Given the description of an element on the screen output the (x, y) to click on. 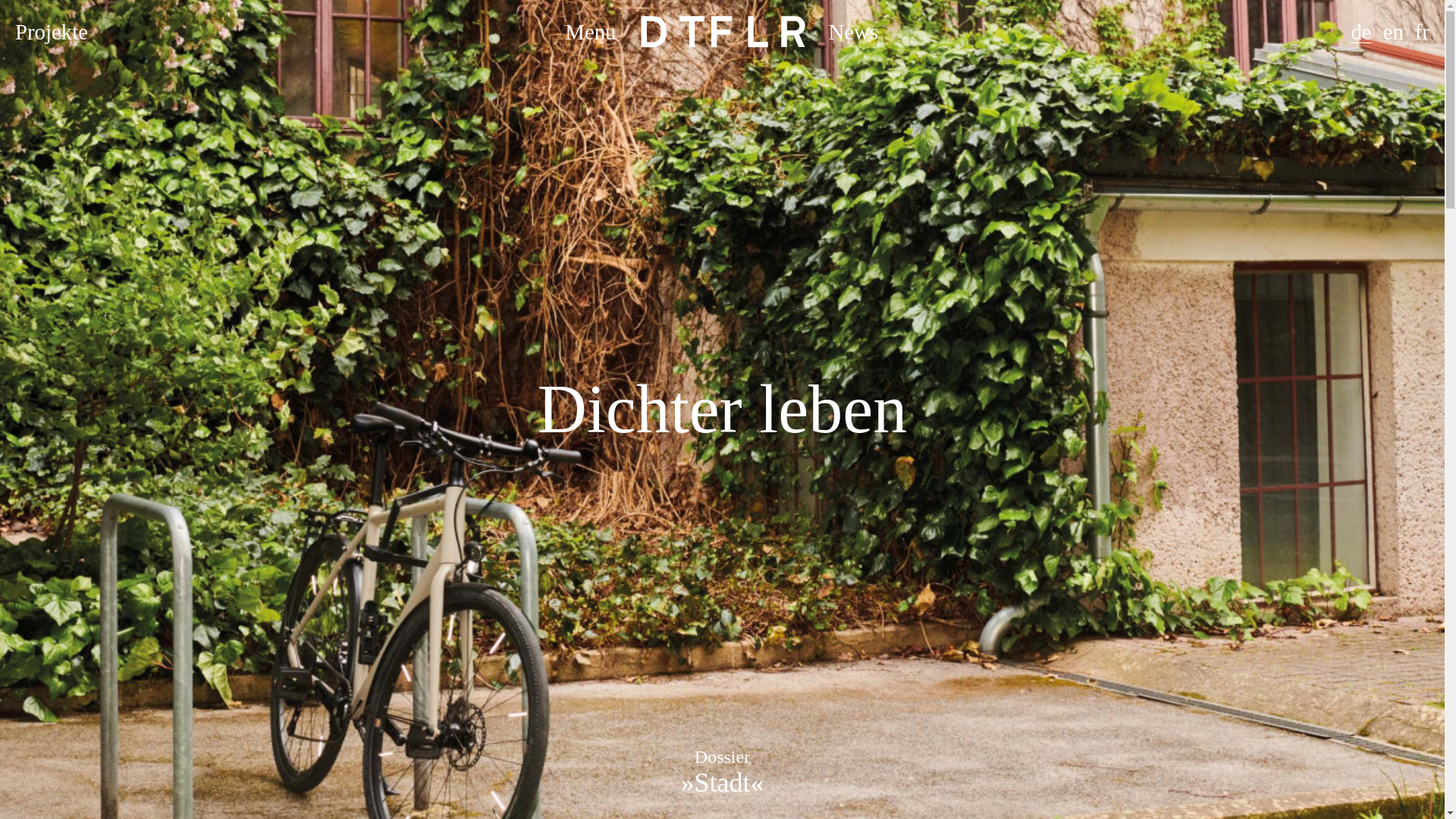
Projekte (50, 31)
